Given the description of an element on the screen output the (x, y) to click on. 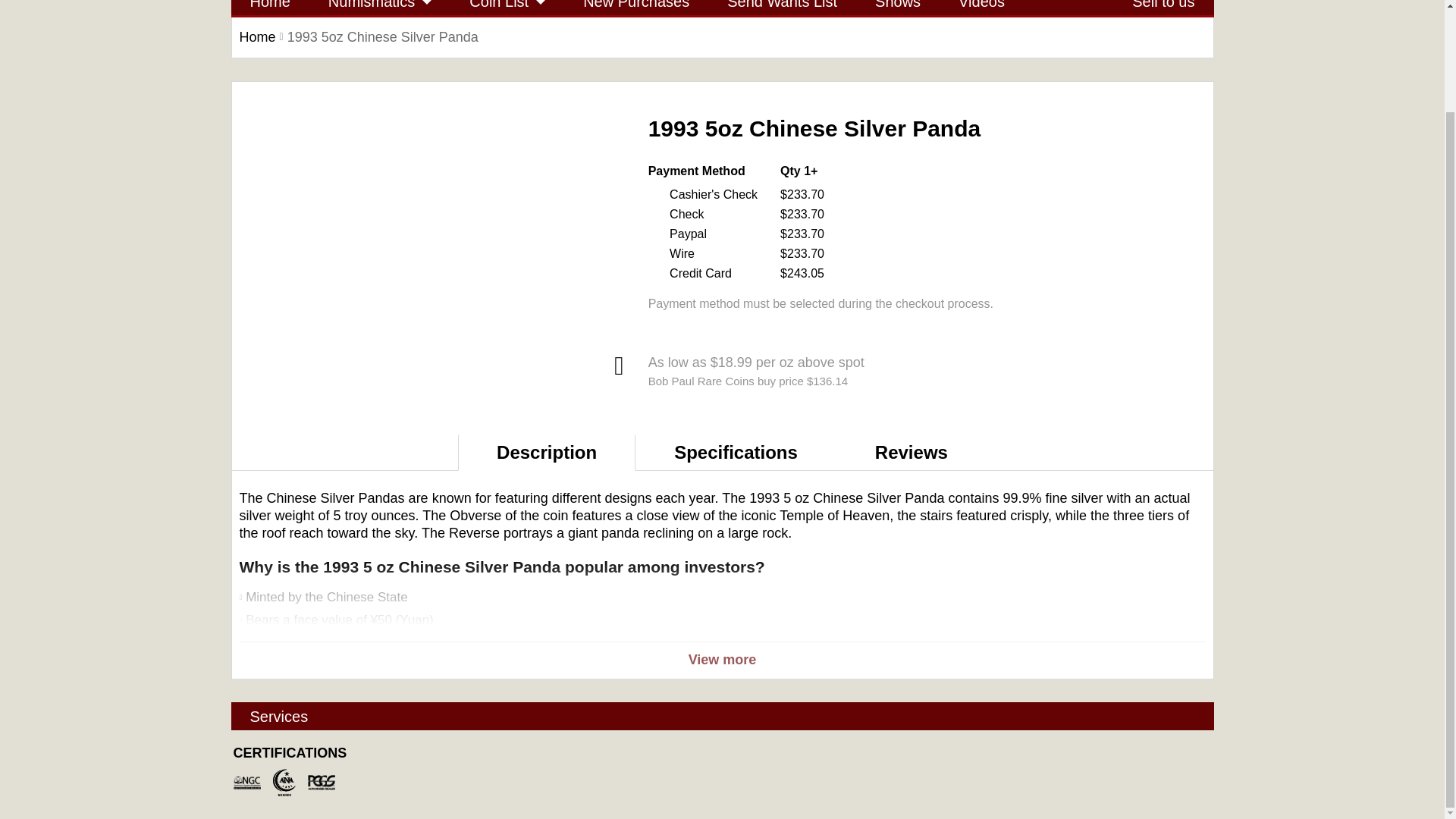
Coin List (506, 7)
Numismatics (378, 7)
Home (269, 7)
